Given the description of an element on the screen output the (x, y) to click on. 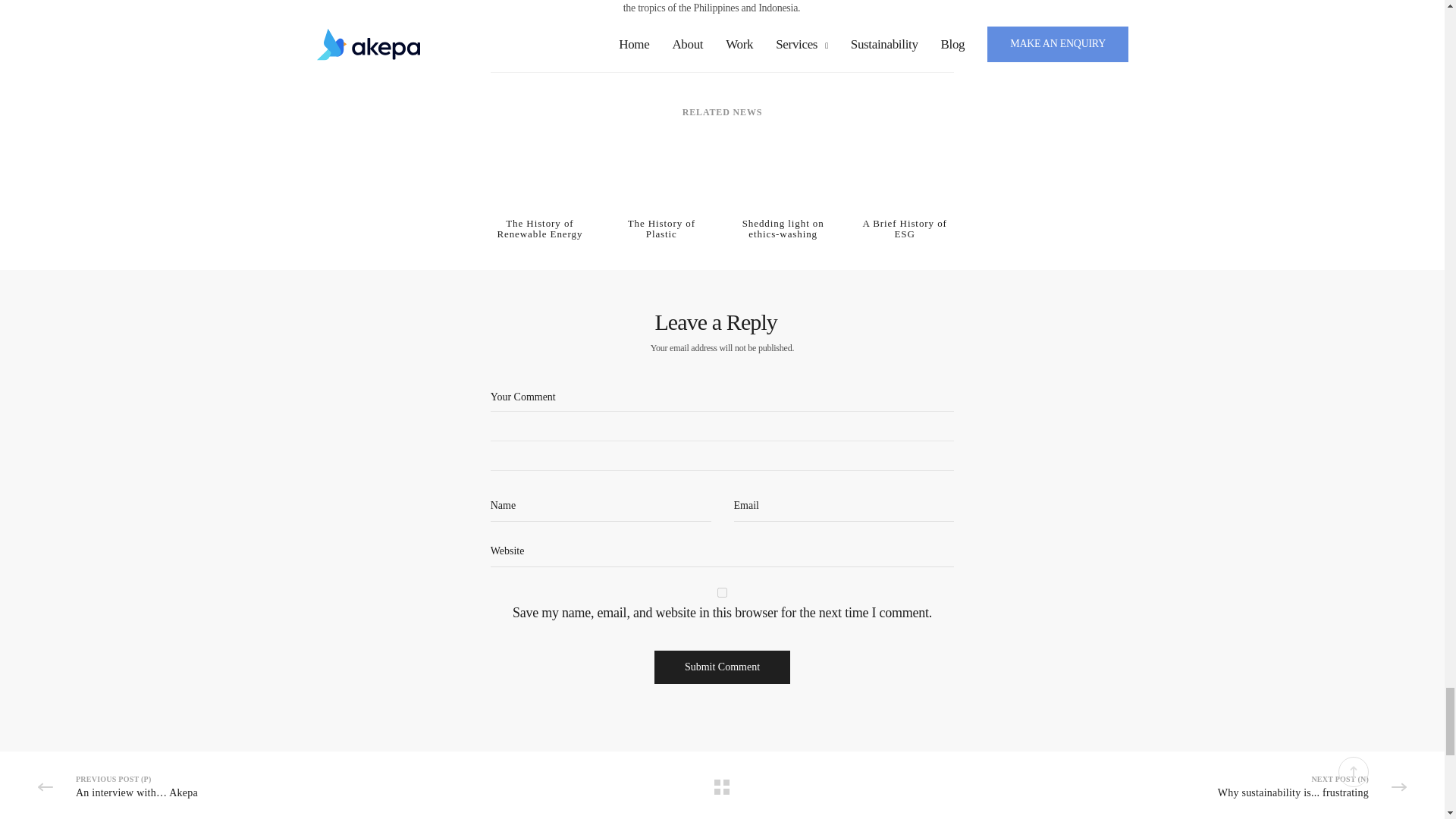
Submit Comment (721, 666)
The History of Renewable Energy (539, 229)
Shedding light on ethics-washing (782, 179)
yes (721, 592)
The History of Plastic (660, 179)
The History of Plastic (660, 229)
The History of Renewable Energy (539, 179)
